Given the description of an element on the screen output the (x, y) to click on. 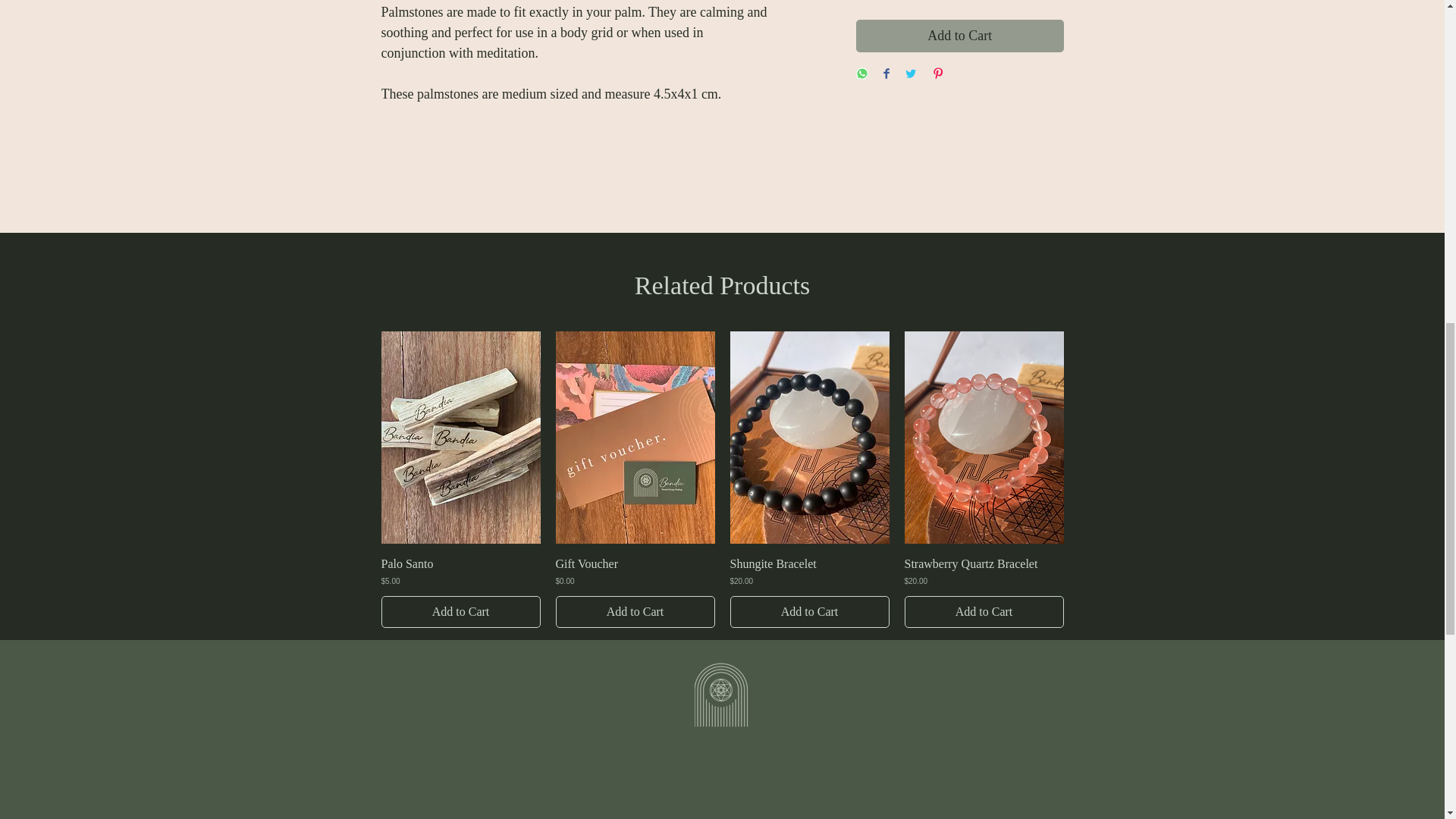
Add to Cart (959, 35)
Add to Cart (808, 612)
Add to Cart (634, 612)
Add to Cart (460, 612)
